Given the description of an element on the screen output the (x, y) to click on. 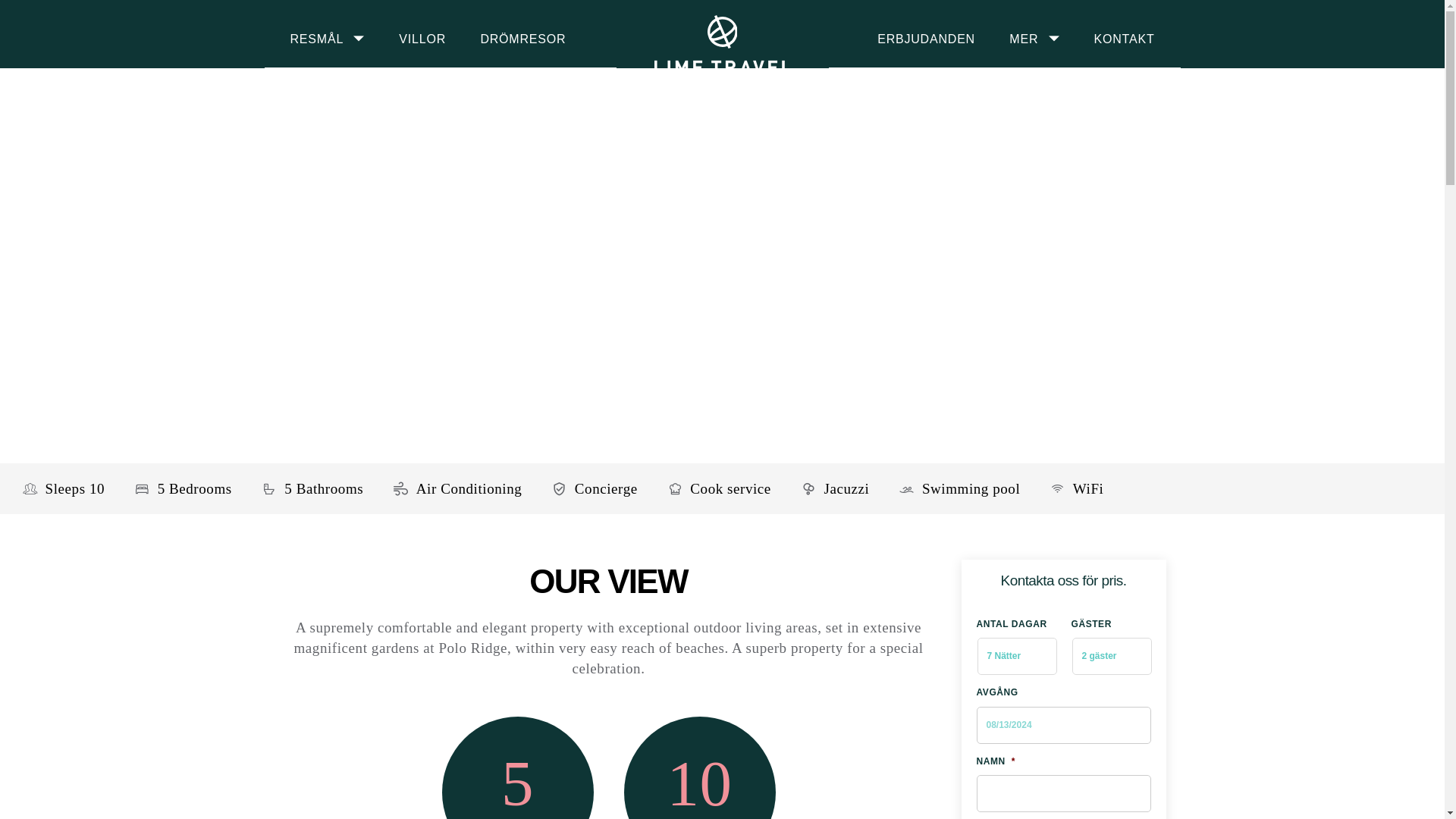
ERBJUDANDEN (926, 38)
KONTAKT (1124, 38)
MER (1023, 38)
VILLOR (421, 38)
